Given the description of an element on the screen output the (x, y) to click on. 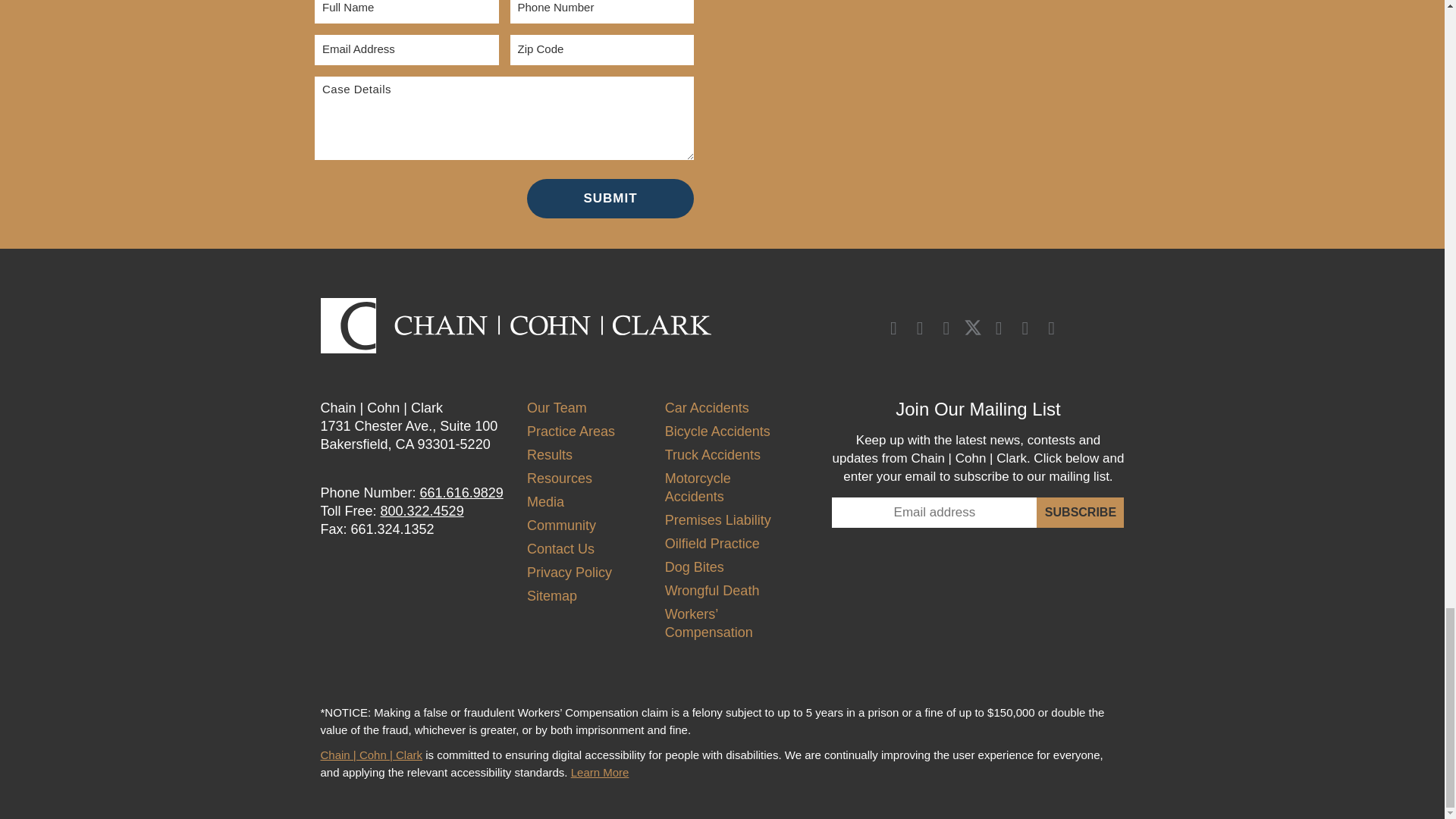
Subscribe (1080, 512)
Submit (610, 198)
